Given the description of an element on the screen output the (x, y) to click on. 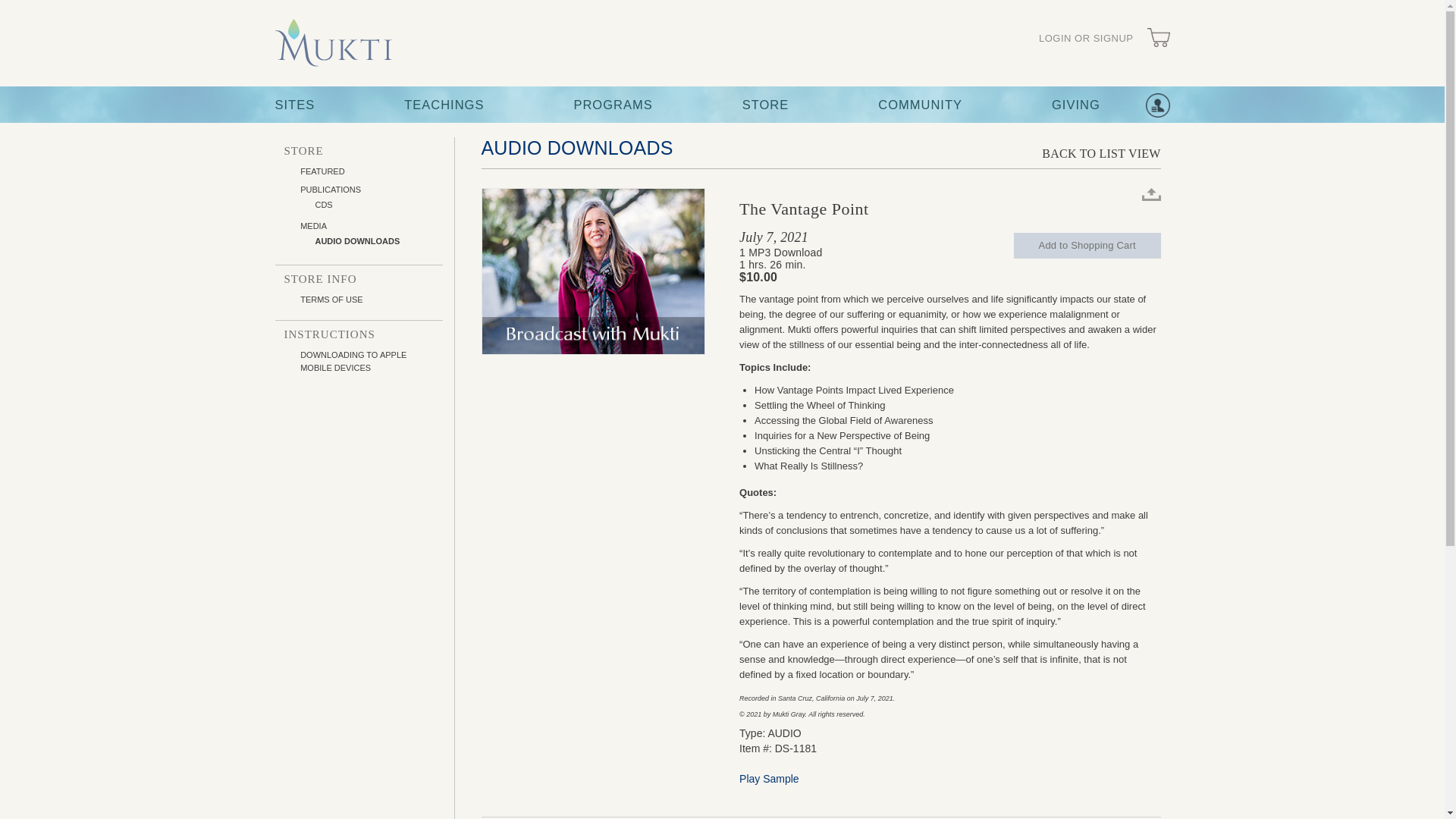
LOGIN OR SIGNUP (1086, 38)
PROGRAMS (612, 104)
My List (1156, 105)
TEACHINGS (443, 104)
STORE (765, 104)
SITES (294, 104)
The Vantage Point (592, 271)
COMMUNITY (919, 104)
LOGIN (1086, 38)
Mukti (333, 42)
